Given the description of an element on the screen output the (x, y) to click on. 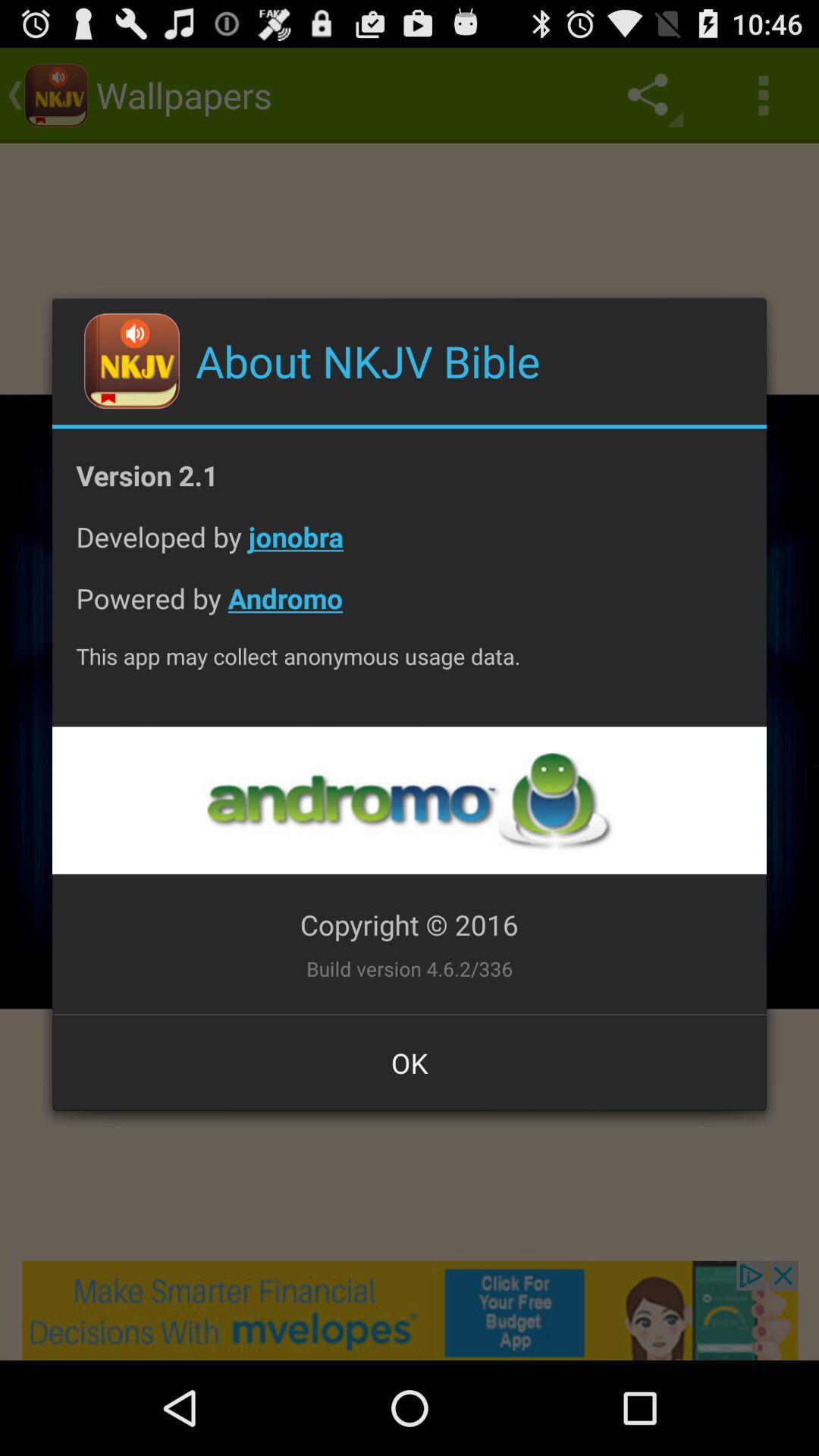
turn on the item at the bottom (409, 1062)
